Given the description of an element on the screen output the (x, y) to click on. 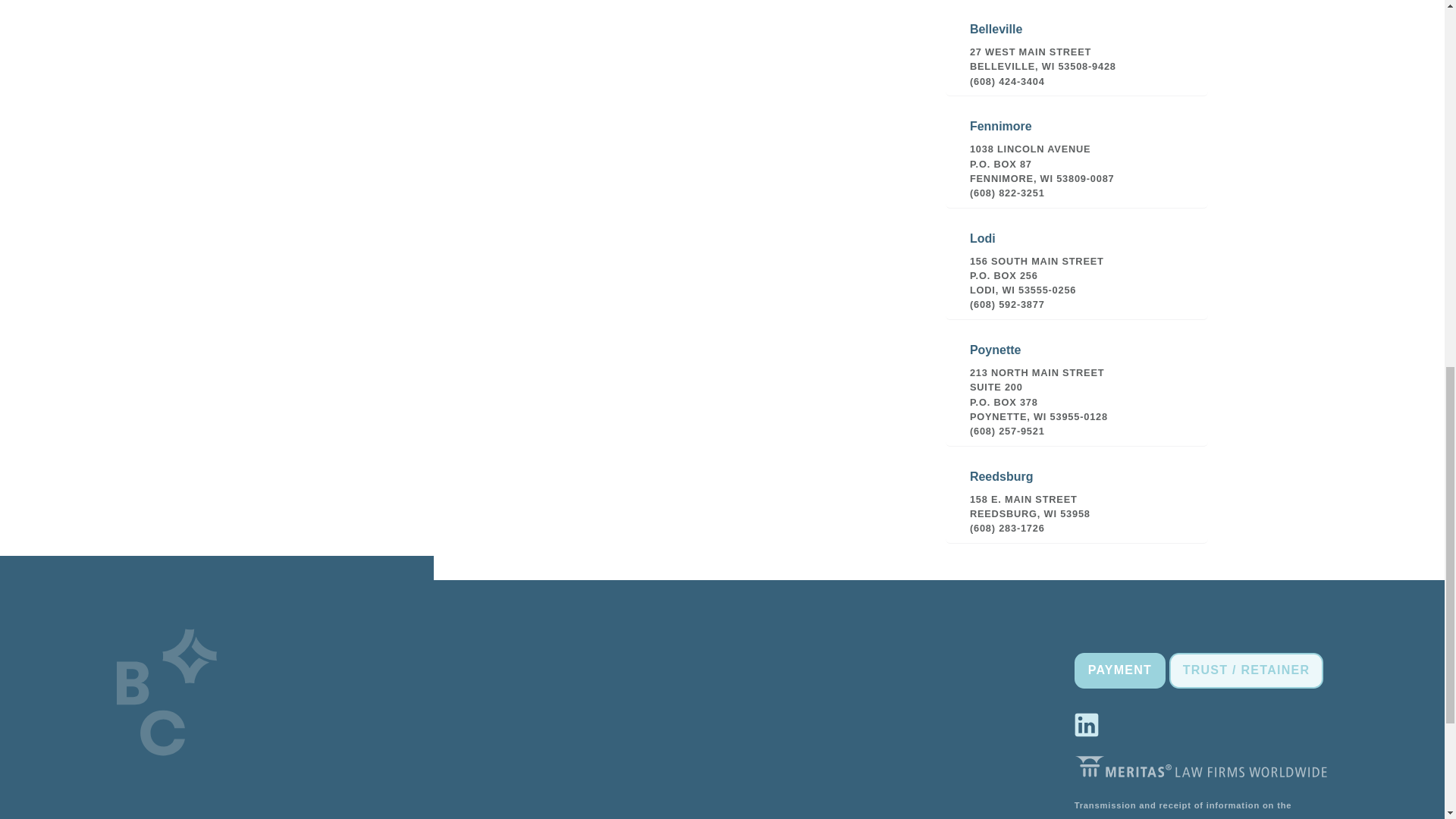
Fennimore (1076, 153)
Poynette (1076, 384)
Belleville (1076, 49)
Lodi (1076, 265)
Reedsburg (1076, 496)
